Given the description of an element on the screen output the (x, y) to click on. 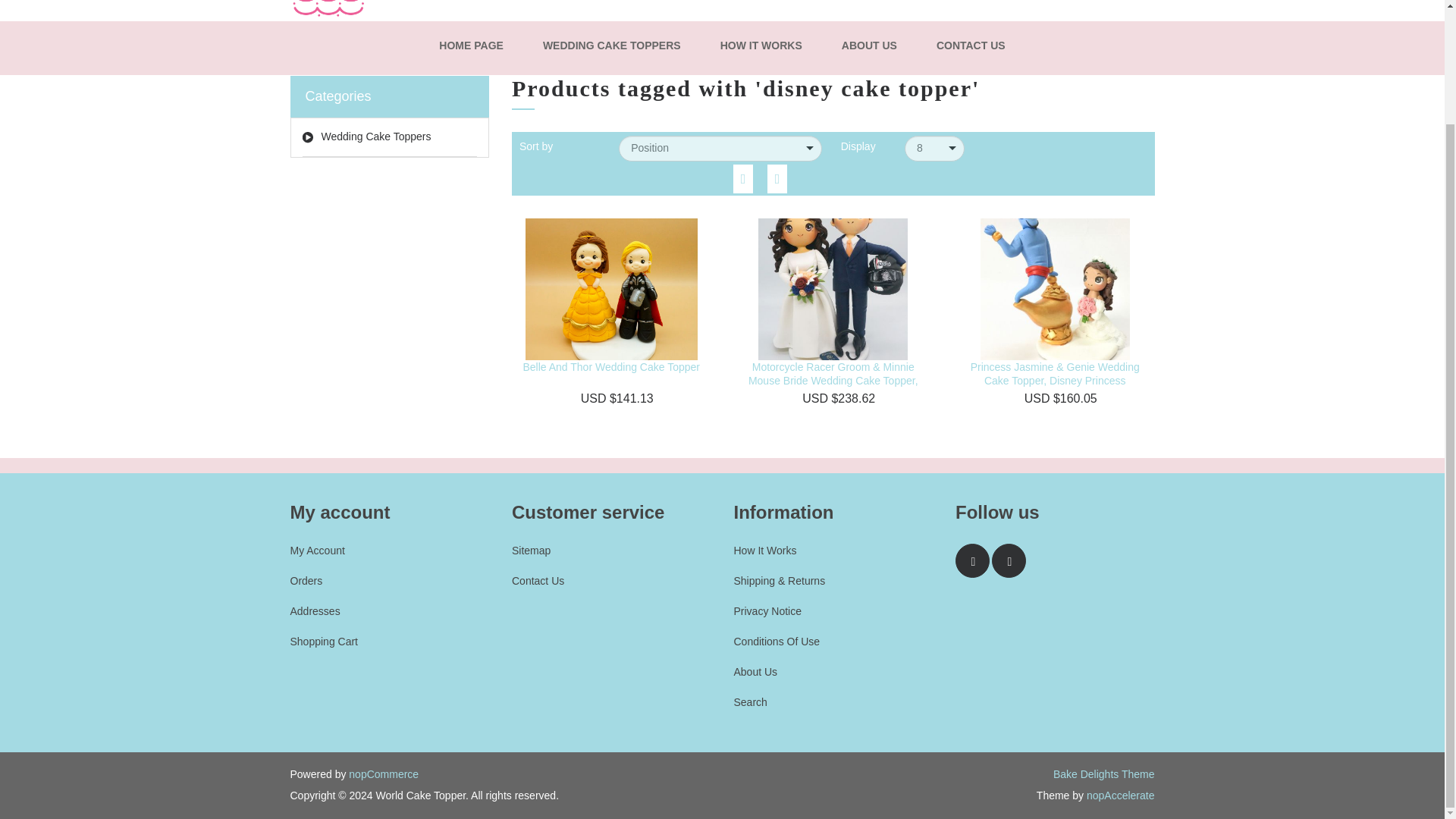
CONTACT US (971, 45)
Responsive Bake Delights Theme for nopCommerce (1103, 774)
Wedding Cake Toppers (389, 137)
WEDDING CAKE TOPPERS (611, 45)
HOME PAGE (470, 45)
ABOUT US (869, 45)
HOW IT WORKS (761, 45)
Show details for Belle and Thor Wedding Cake Topper (611, 283)
List (777, 178)
Belle And Thor Wedding Cake Topper (611, 367)
